Given the description of an element on the screen output the (x, y) to click on. 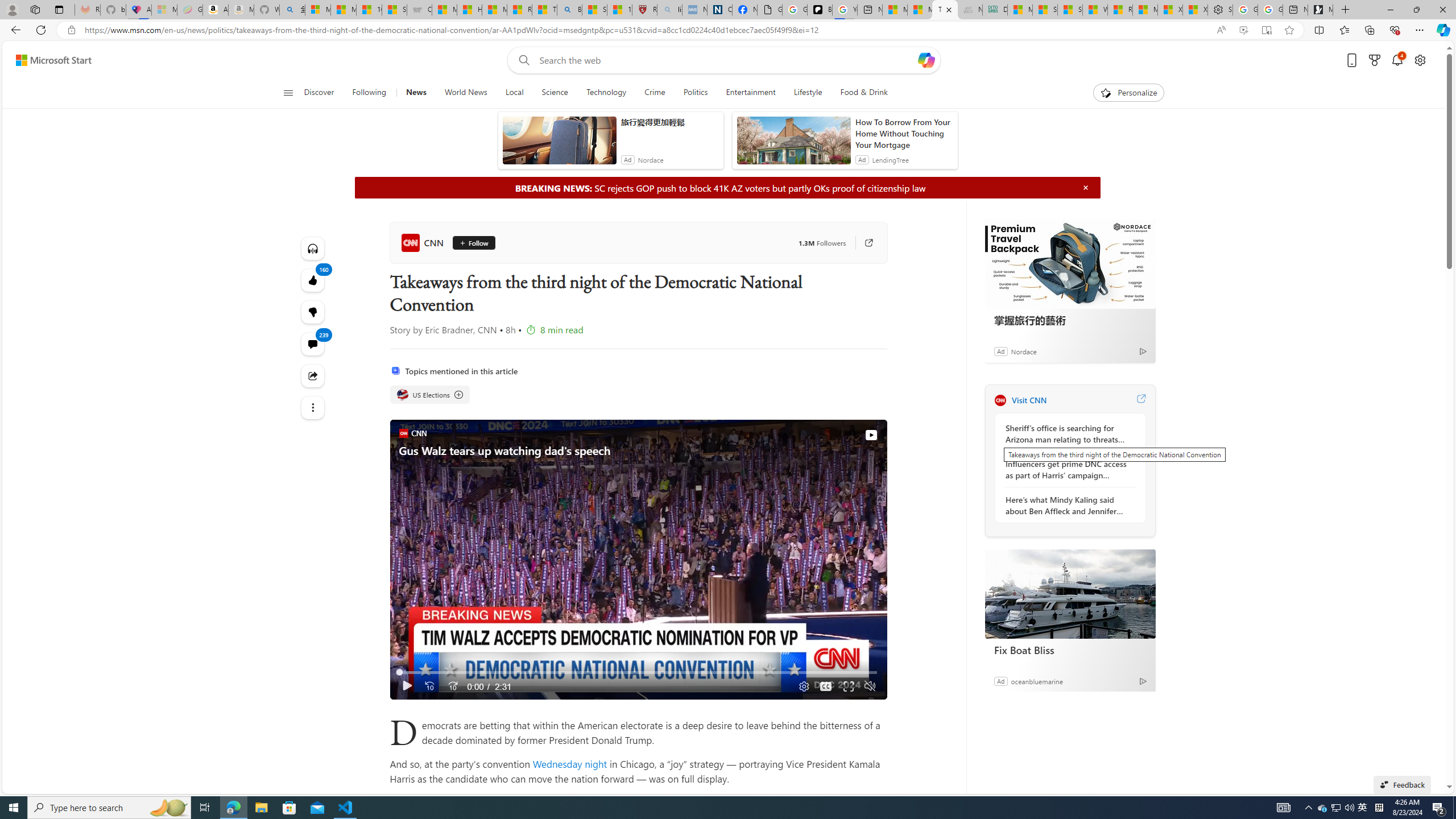
Personalize (1128, 92)
World News (465, 92)
Share this story (312, 375)
R******* | Trusted Community Engagement and Contributions (1119, 9)
Robert H. Shmerling, MD - Harvard Health (644, 9)
Technology (605, 92)
Enter Immersive Reader (F9) (1266, 29)
Politics (695, 92)
Listen to this article (312, 248)
Enter your search term (726, 59)
